Given the description of an element on the screen output the (x, y) to click on. 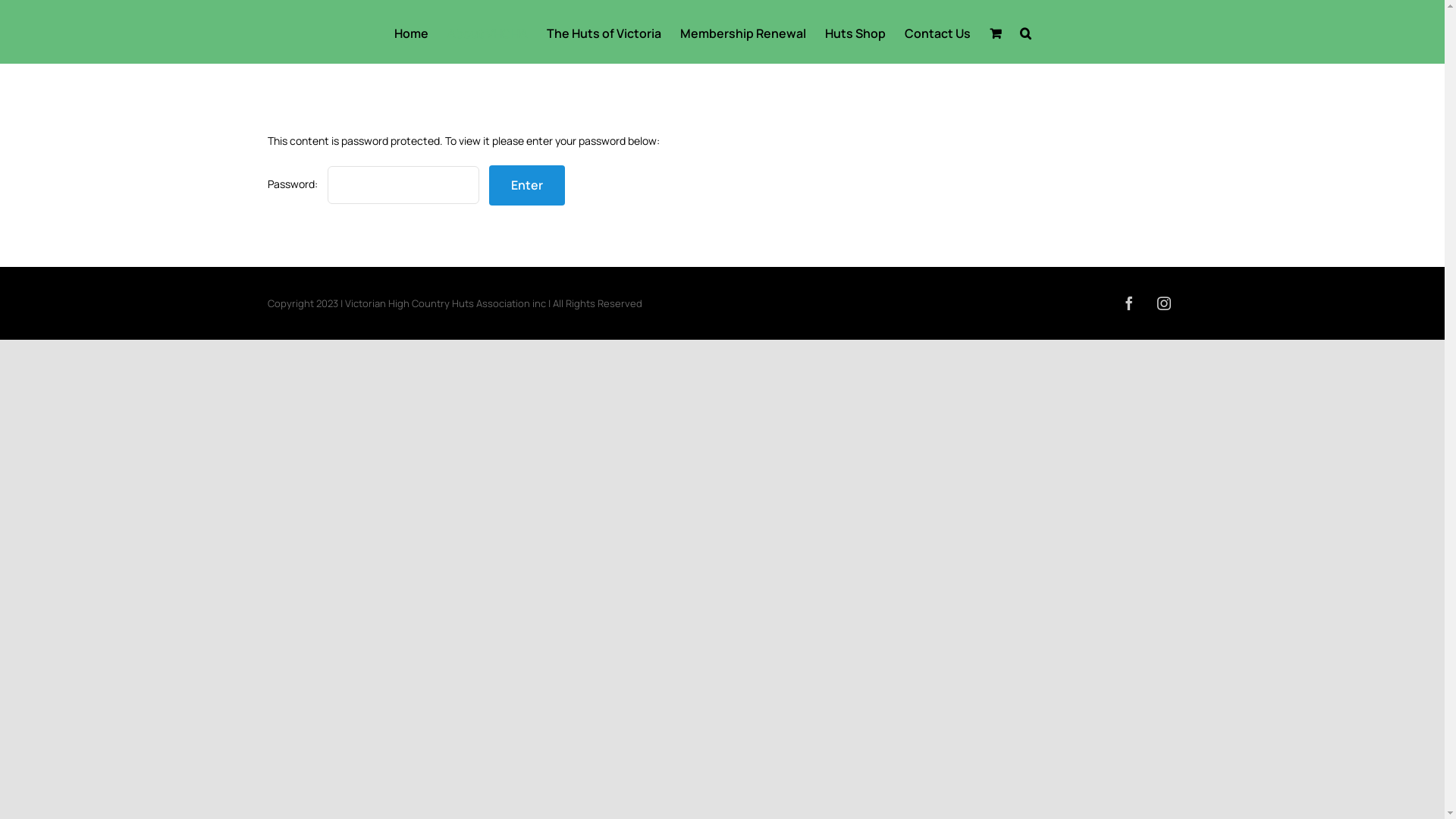
Search Element type: hover (1025, 31)
Home Element type: text (411, 31)
Membership Renewal Element type: text (743, 31)
Huts Shop Element type: text (855, 31)
Facebook Element type: text (1128, 302)
Enter Element type: text (526, 185)
Instagram Element type: text (1162, 302)
Contact Us Element type: text (937, 31)
The Huts of Victoria Element type: text (603, 31)
About VHCHA Element type: text (487, 31)
